Given the description of an element on the screen output the (x, y) to click on. 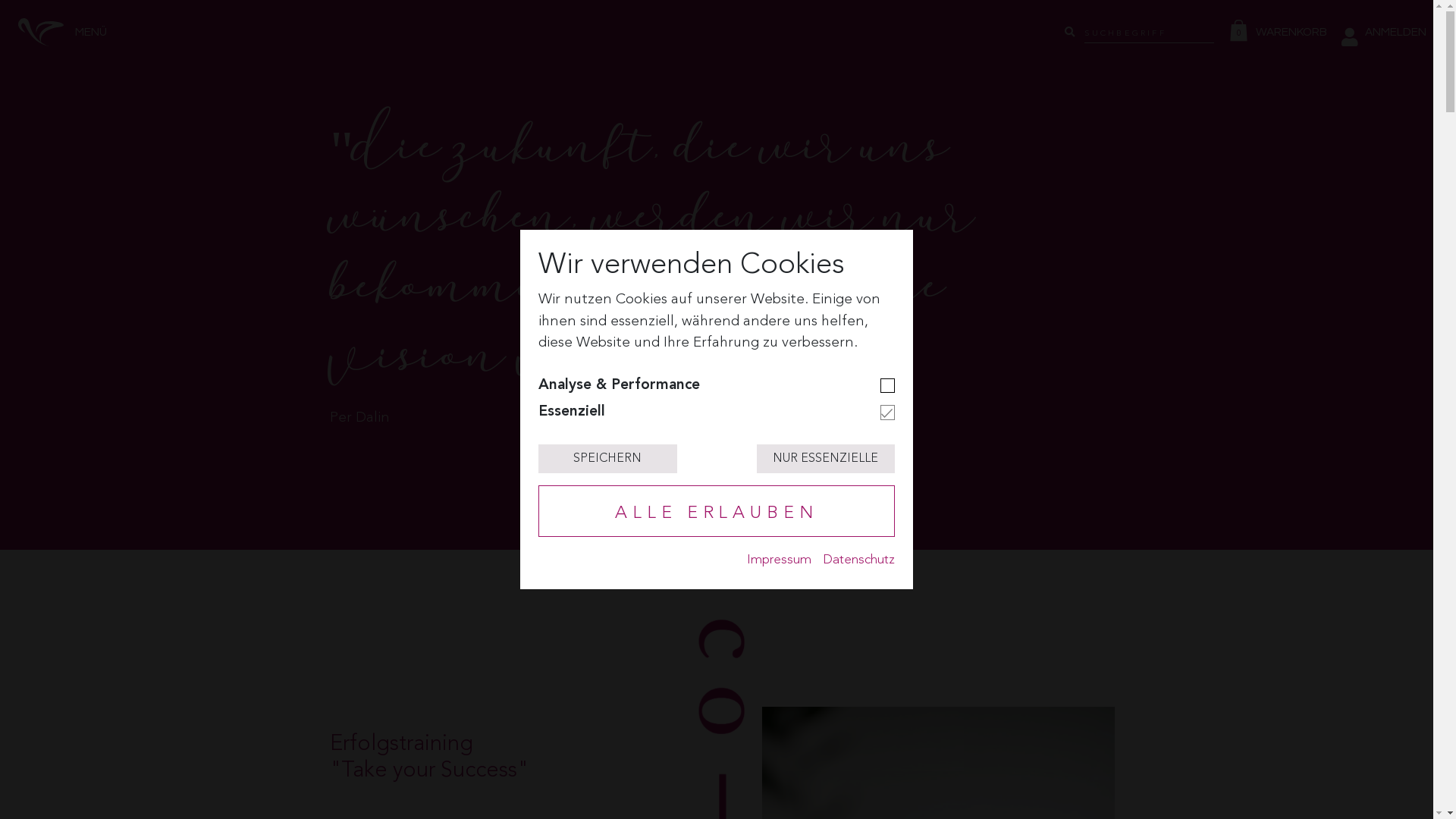
NUR ESSENZIELLE Element type: text (825, 458)
0
WARENKORB Element type: text (1281, 31)
ALLE ERLAUBEN Element type: text (716, 511)
Impressum Element type: text (778, 559)
SPEICHERN Element type: text (607, 458)
ANMELDEN Element type: text (1383, 31)
Datenschutz Element type: text (858, 559)
